Given the description of an element on the screen output the (x, y) to click on. 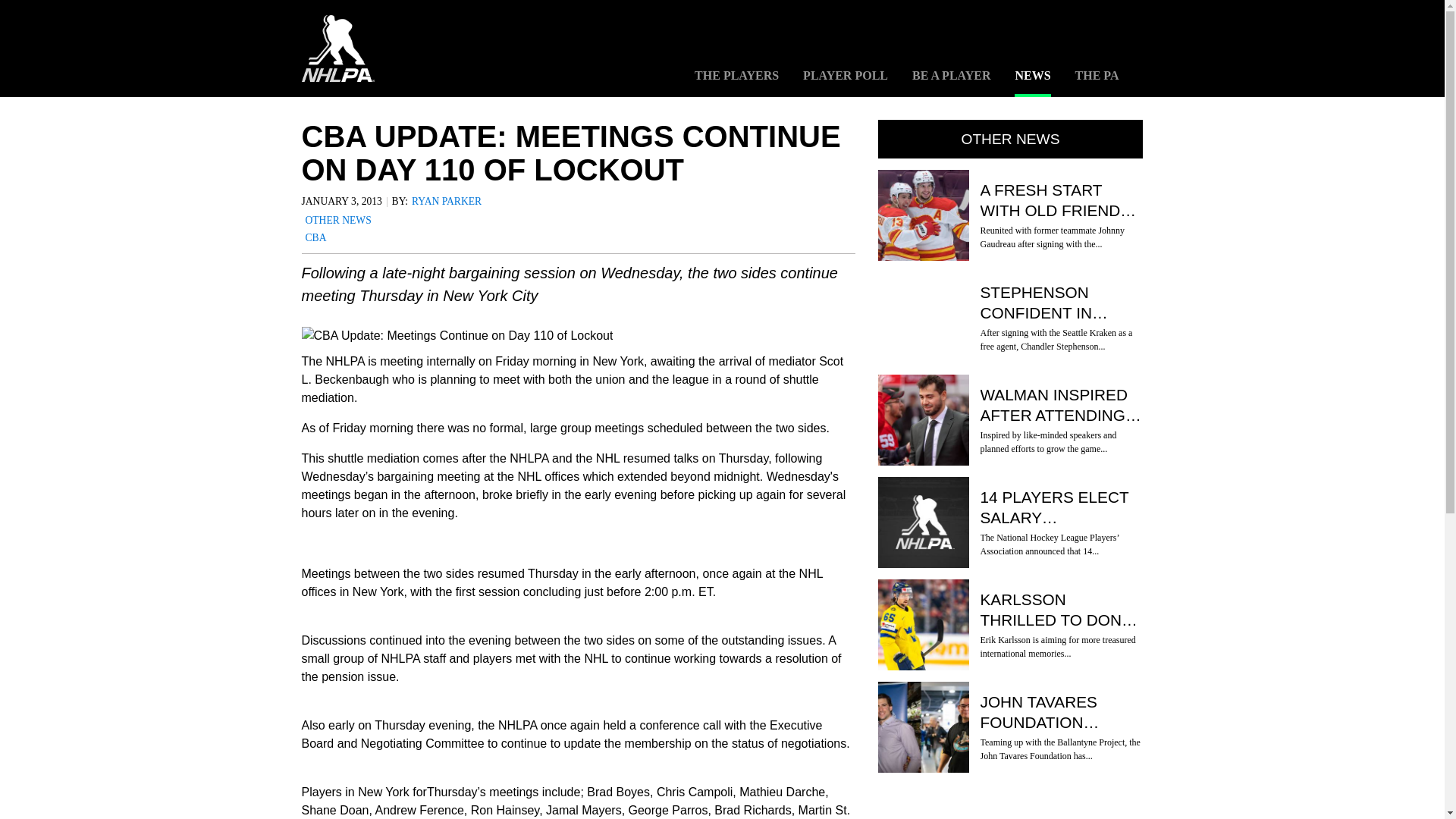
Back to home page (337, 48)
NEWS (1031, 83)
CBA (315, 237)
RYAN PARKER (446, 201)
OTHER NEWS (337, 220)
THE PA (1097, 83)
THE PLAYERS (736, 83)
PLAYER POLL (845, 83)
BE A PLAYER (951, 83)
